Given the description of an element on the screen output the (x, y) to click on. 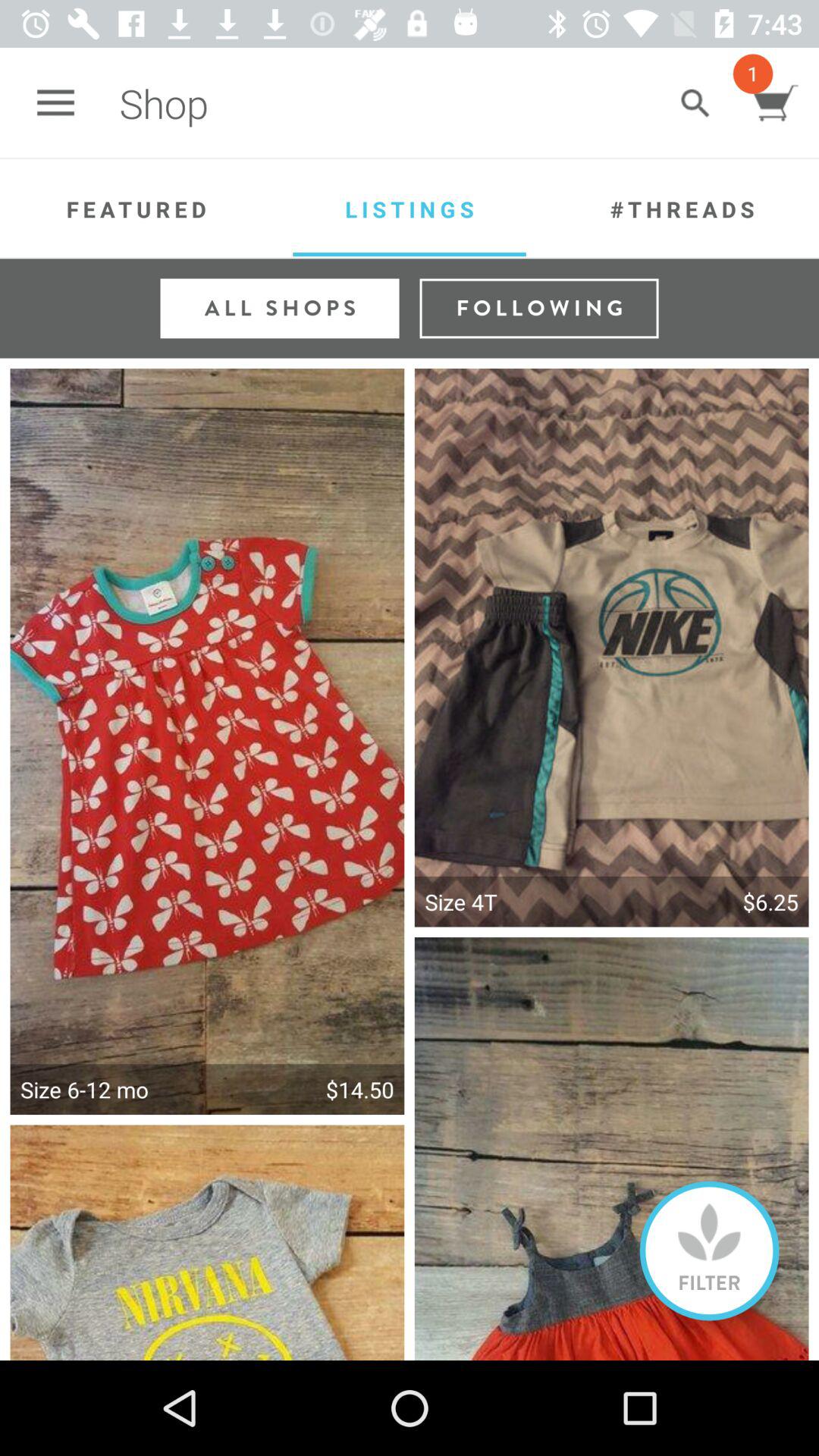
turn off the item next to the all shops icon (538, 308)
